Given the description of an element on the screen output the (x, y) to click on. 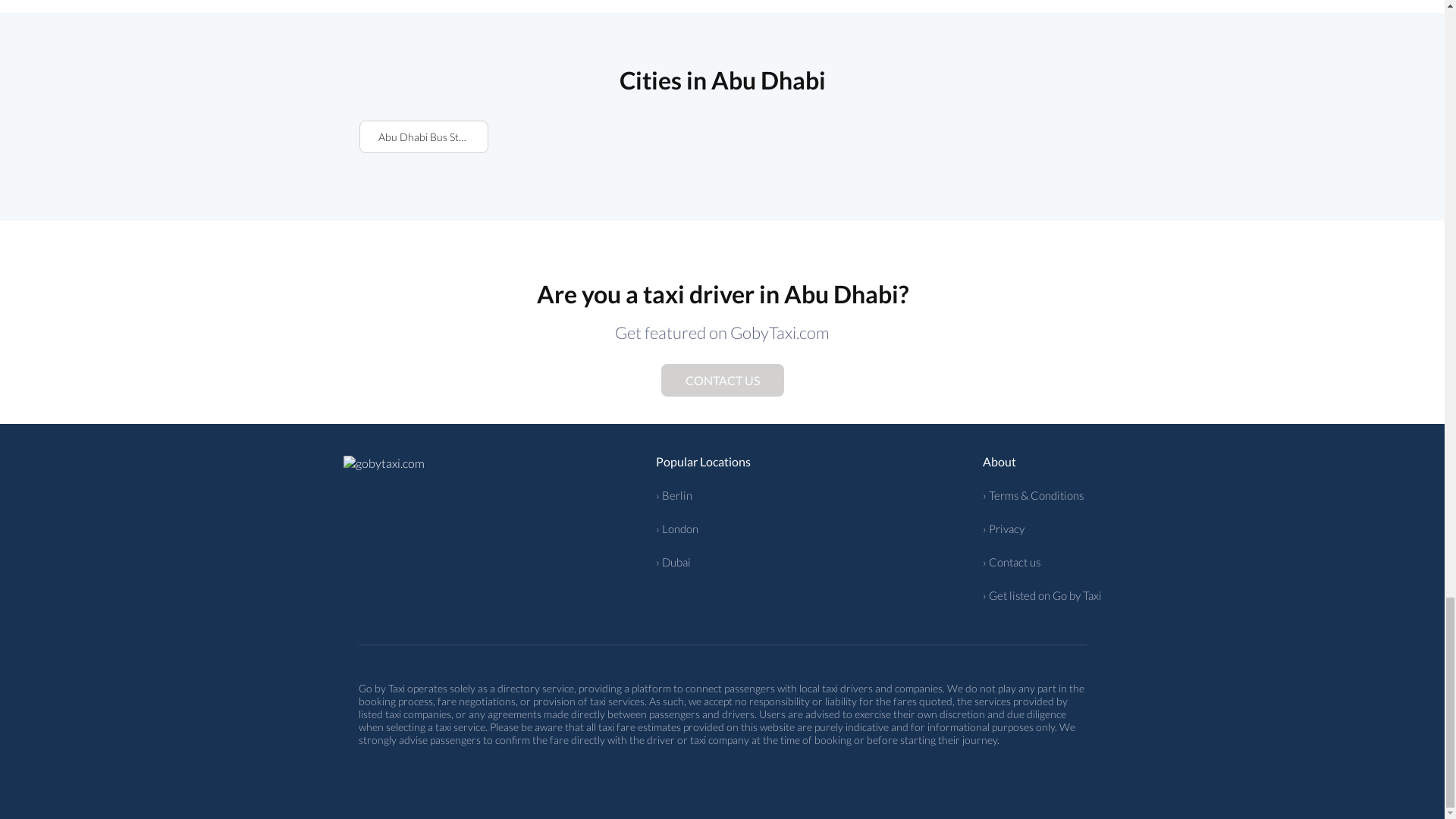
CONTACT US (722, 380)
Abu Dhabi Bus Station (423, 136)
Abu Dhabi Bus Station (423, 136)
gobytaxi.com (382, 462)
Abu Dhabi Bus Station (423, 136)
CONTACT US (722, 379)
